Given the description of an element on the screen output the (x, y) to click on. 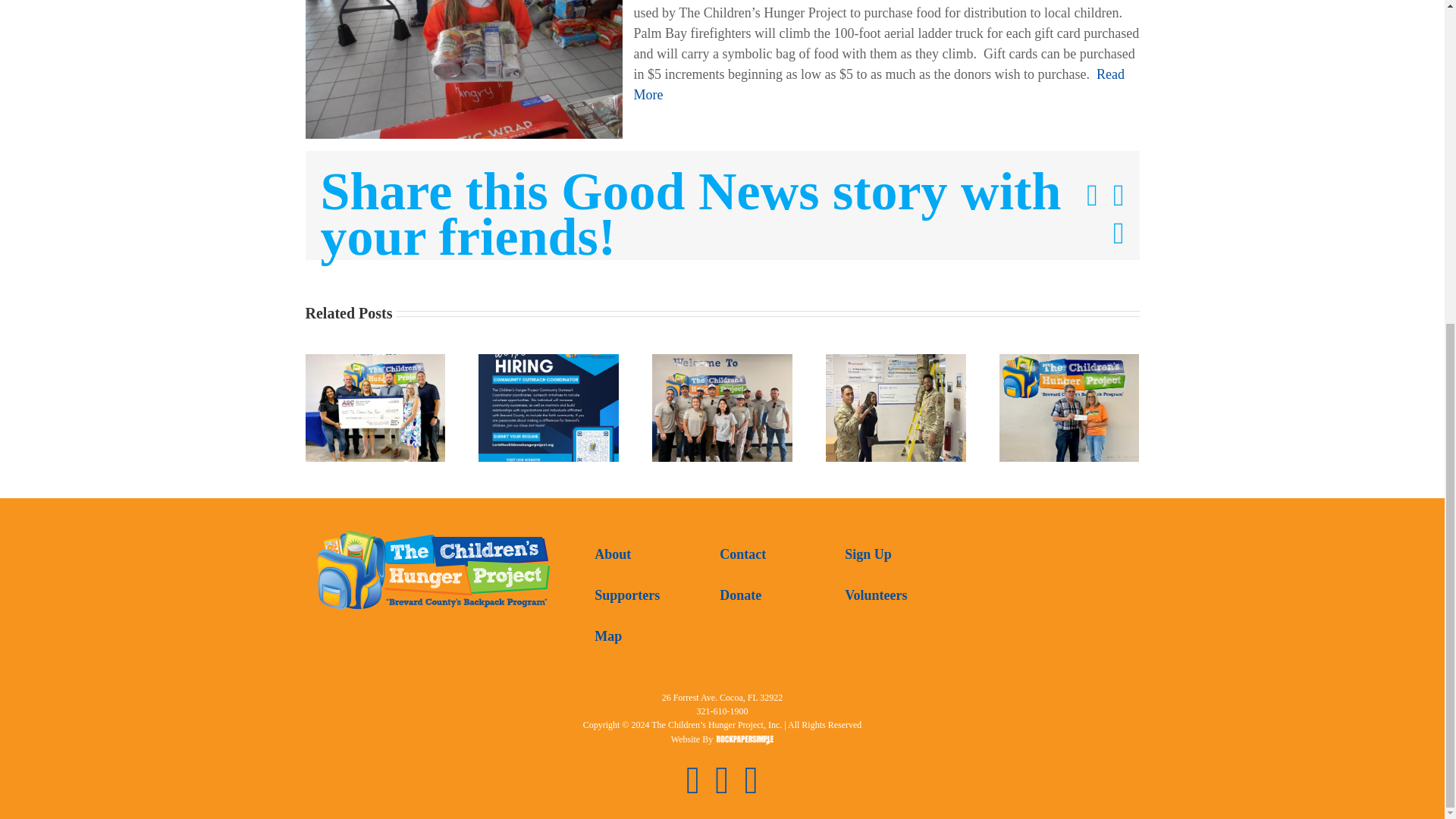
Visit the Rock Paper Simple Website (744, 741)
